Given the description of an element on the screen output the (x, y) to click on. 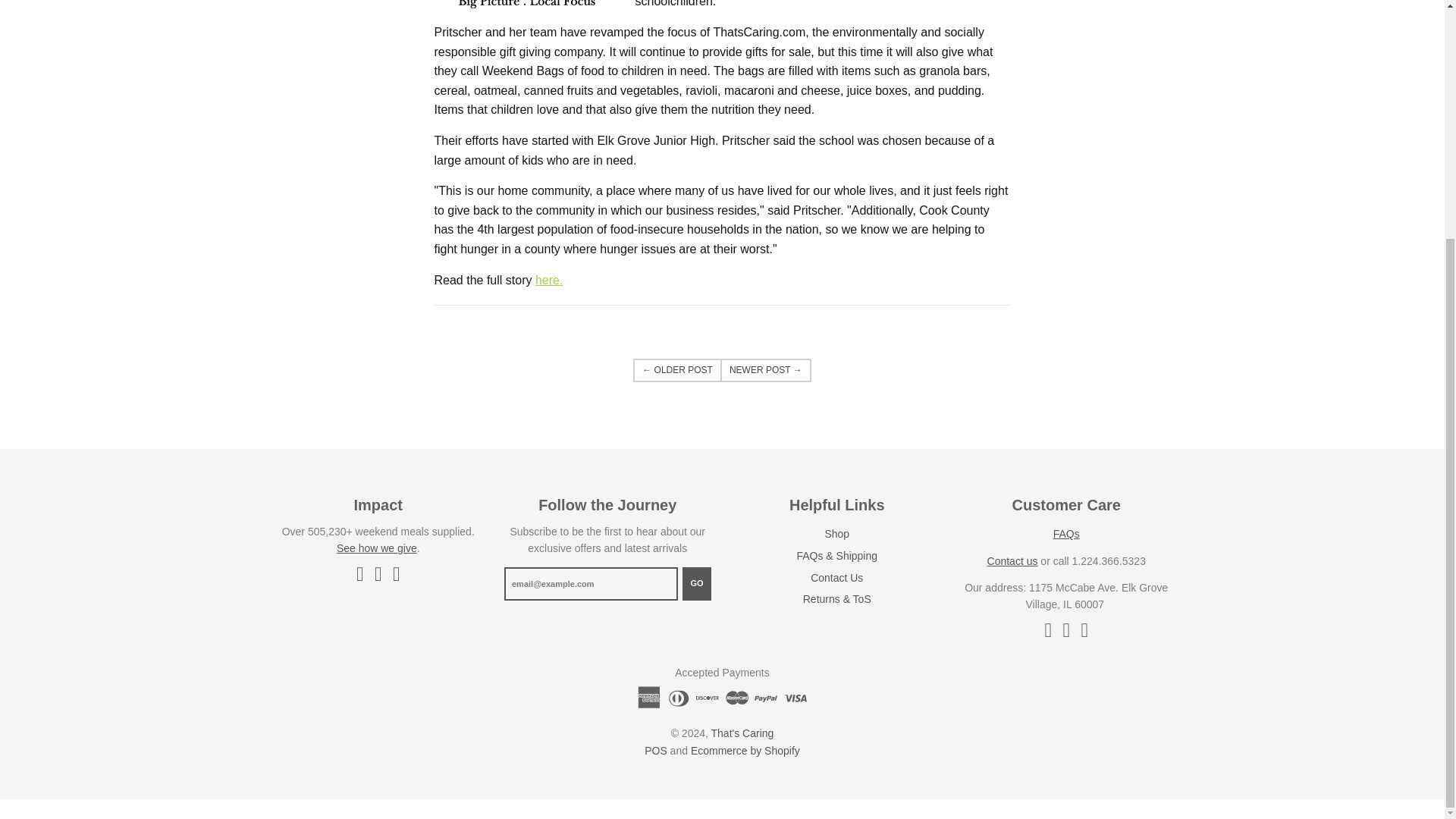
Contact Us (1012, 561)
